Given the description of an element on the screen output the (x, y) to click on. 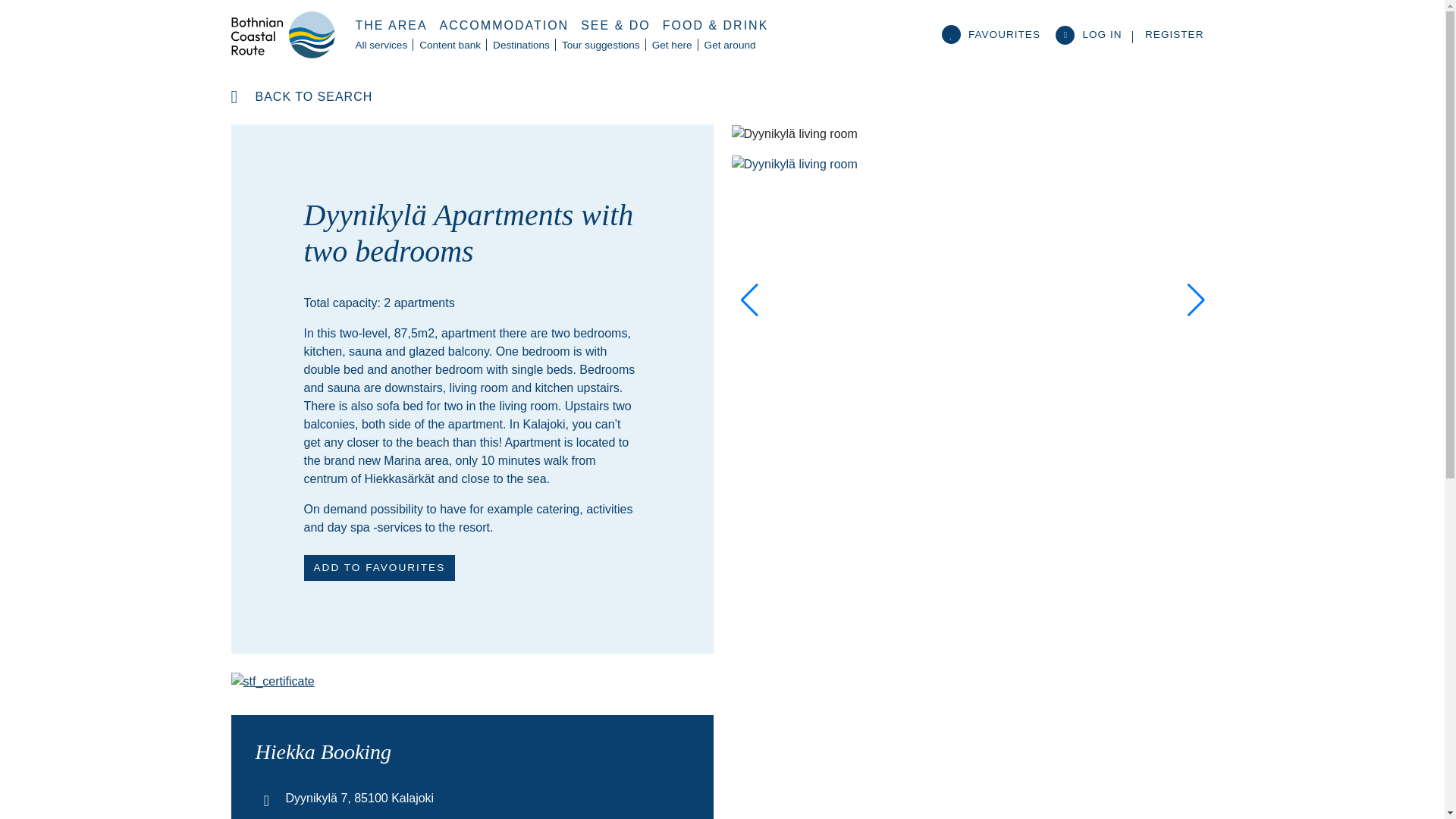
Tour suggestions (601, 45)
Content bank (449, 45)
Tour suggestions (601, 45)
All services (381, 45)
BACK TO SEARCH (301, 96)
Content bank (449, 45)
Get around (729, 45)
The Area (390, 25)
FAVOURITES (994, 34)
REGISTER (1173, 34)
